Given the description of an element on the screen output the (x, y) to click on. 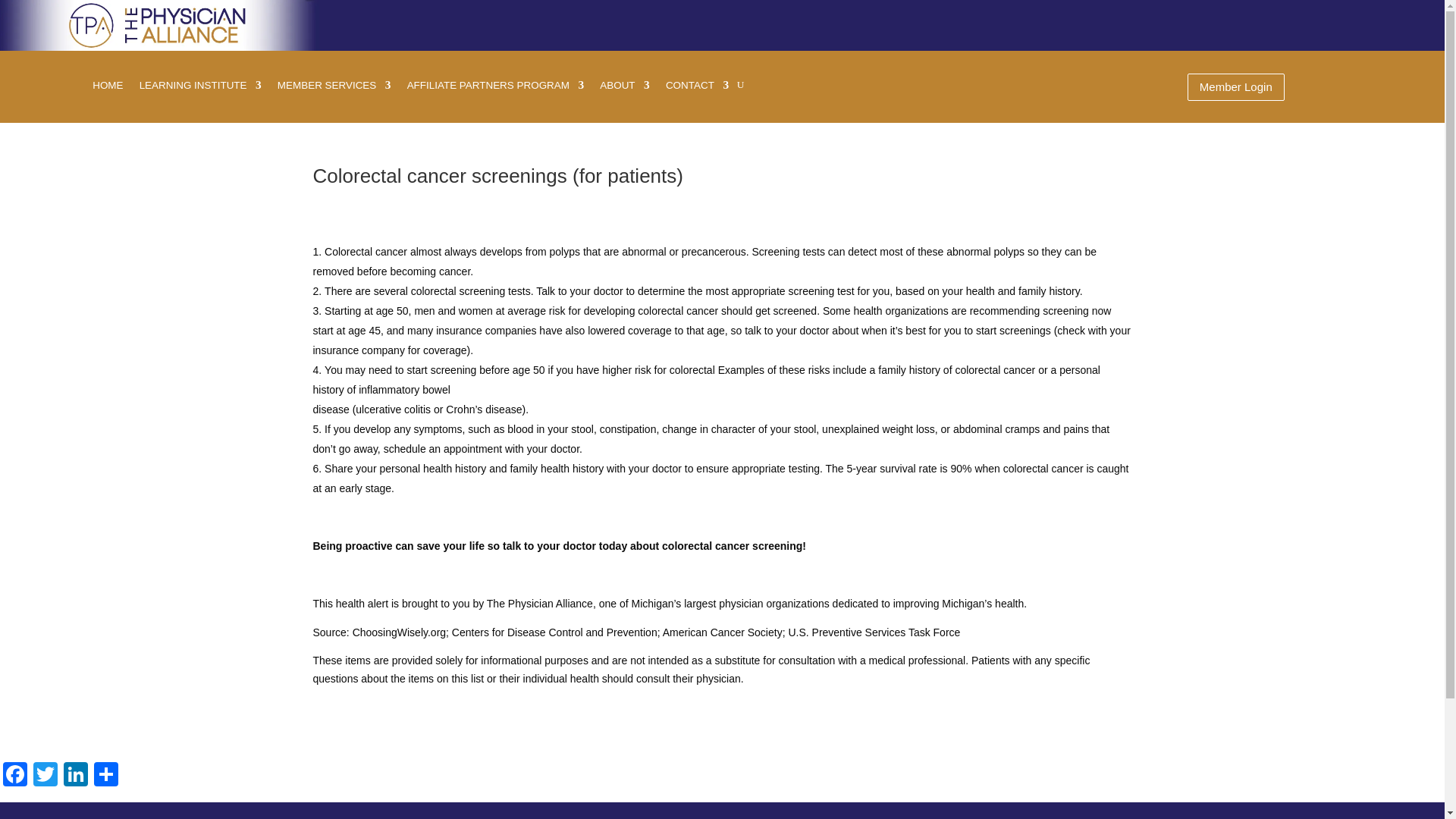
LinkedIn (75, 776)
Facebook (15, 776)
ABOUT (624, 87)
MEMBER SERVICES (335, 87)
HOME (108, 87)
LEARNING INSTITUTE (202, 87)
AFFILIATE PARTNERS PROGRAM (498, 87)
Twitter (45, 776)
